Given the description of an element on the screen output the (x, y) to click on. 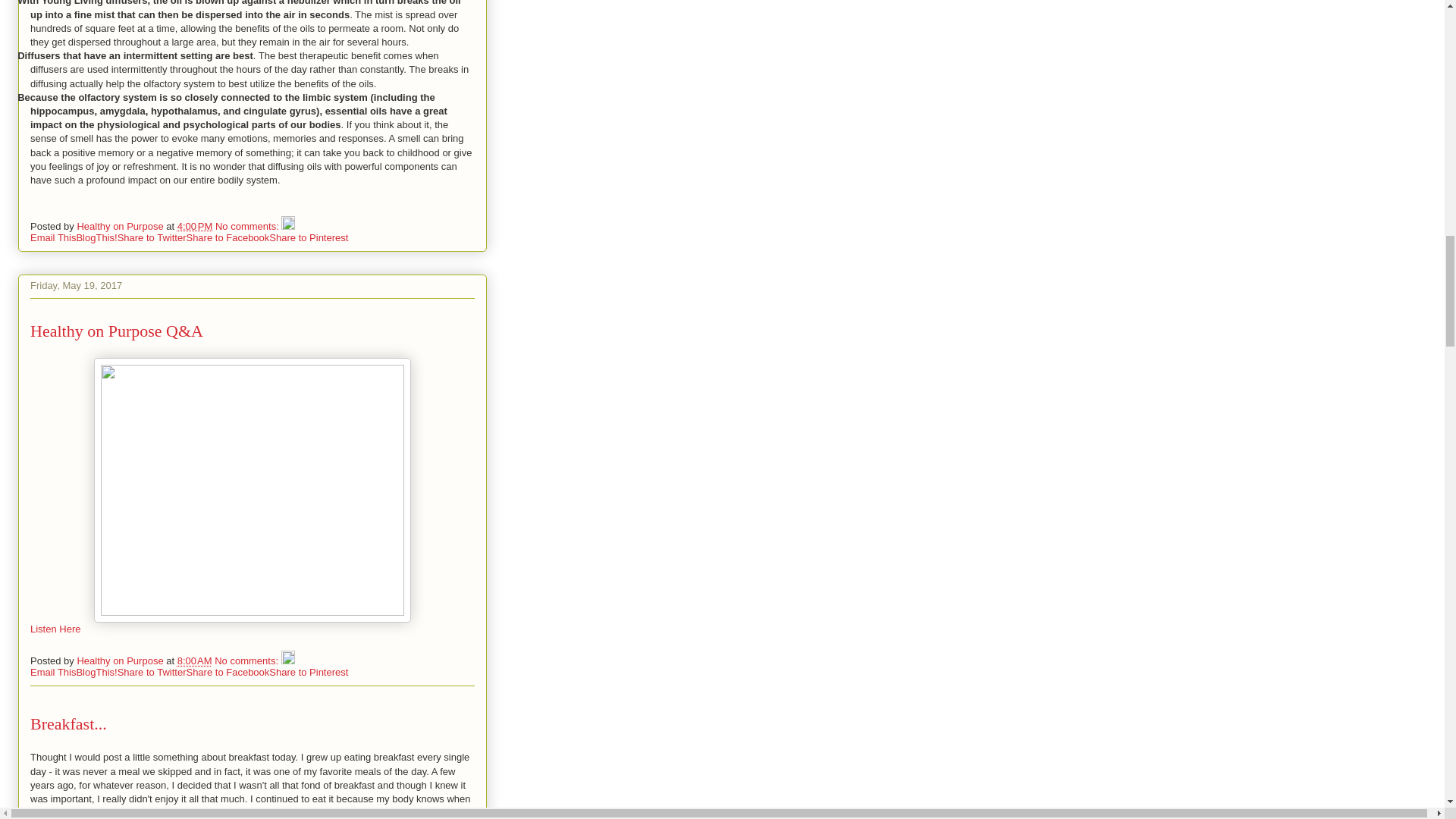
Share to Twitter (151, 237)
author profile (121, 225)
Share to Pinterest (308, 237)
Healthy on Purpose (121, 225)
No comments: (248, 225)
BlogThis! (95, 672)
Share to Facebook (227, 672)
Share to Facebook (227, 237)
permanent link (194, 225)
Edit Post (288, 225)
Healthy on Purpose (121, 660)
BlogThis! (95, 237)
No comments: (247, 660)
